Given the description of an element on the screen output the (x, y) to click on. 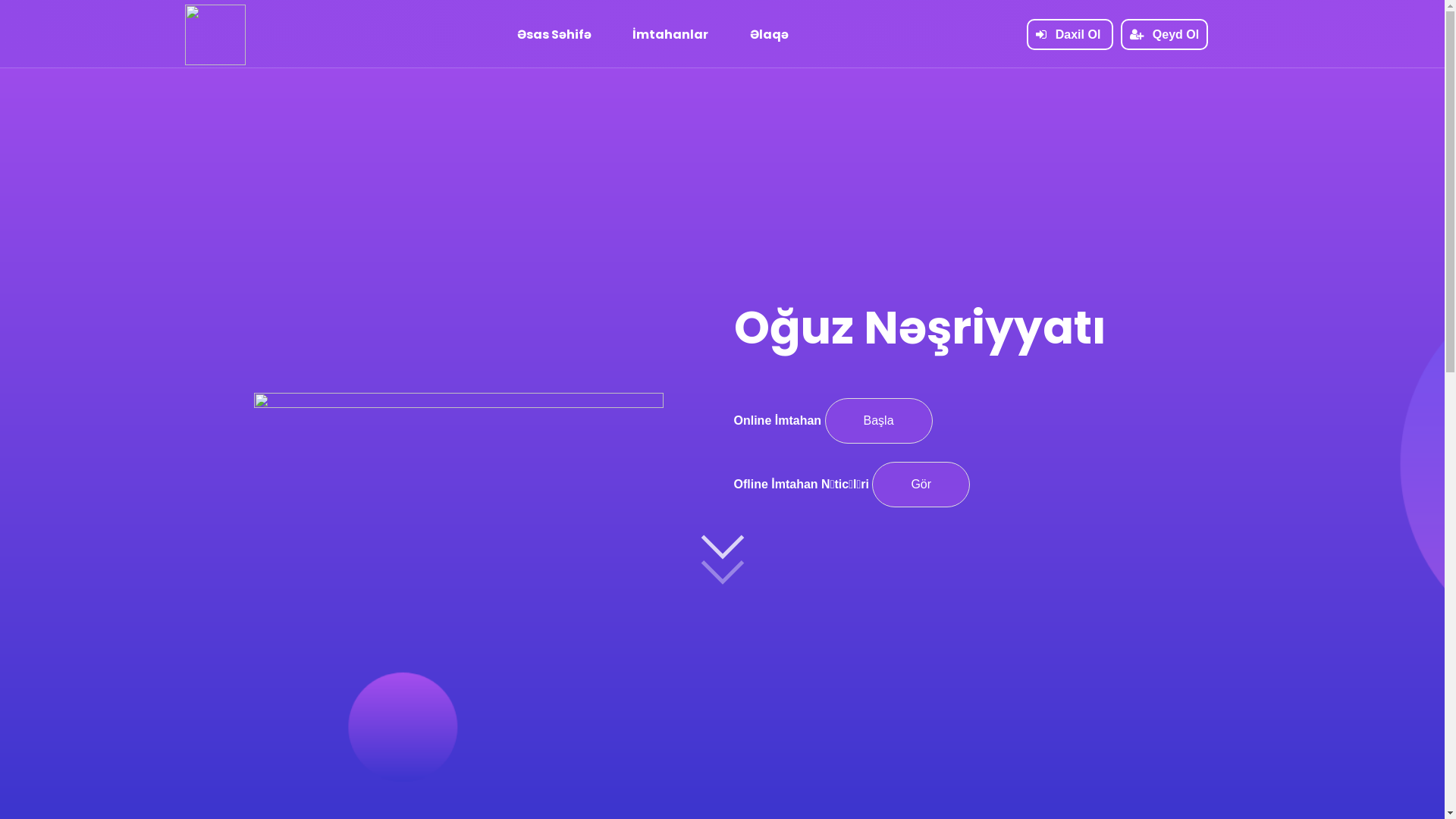
Daxil Ol Element type: text (1069, 34)
Qeyd Ol Element type: text (1164, 34)
